Given the description of an element on the screen output the (x, y) to click on. 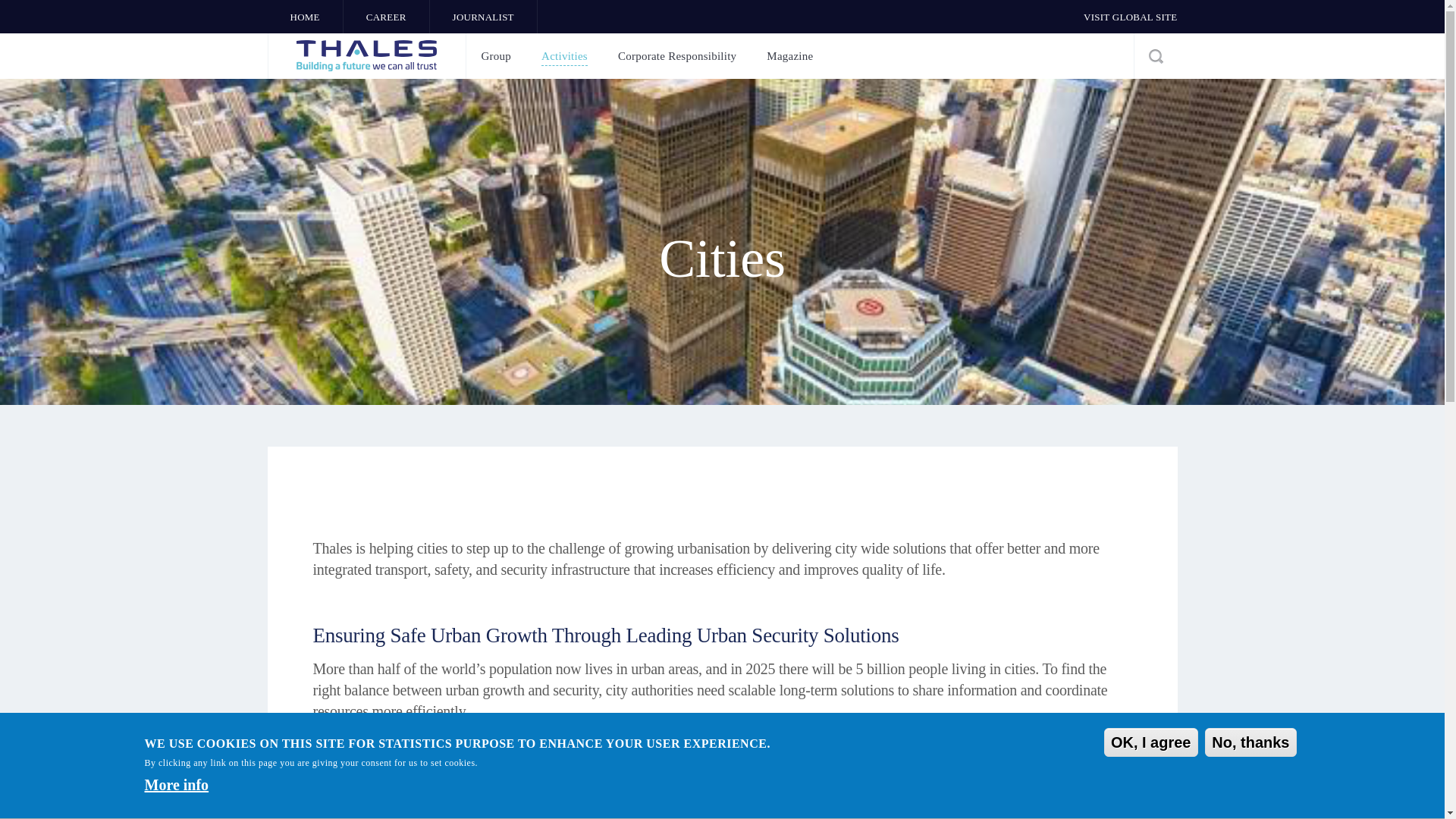
CAREER (386, 14)
VISIT GLOBAL SITE (1129, 14)
Group (495, 56)
Search (1154, 55)
Home (365, 55)
HOME (304, 14)
Activities (563, 56)
JOURNALIST (483, 14)
